Given the description of an element on the screen output the (x, y) to click on. 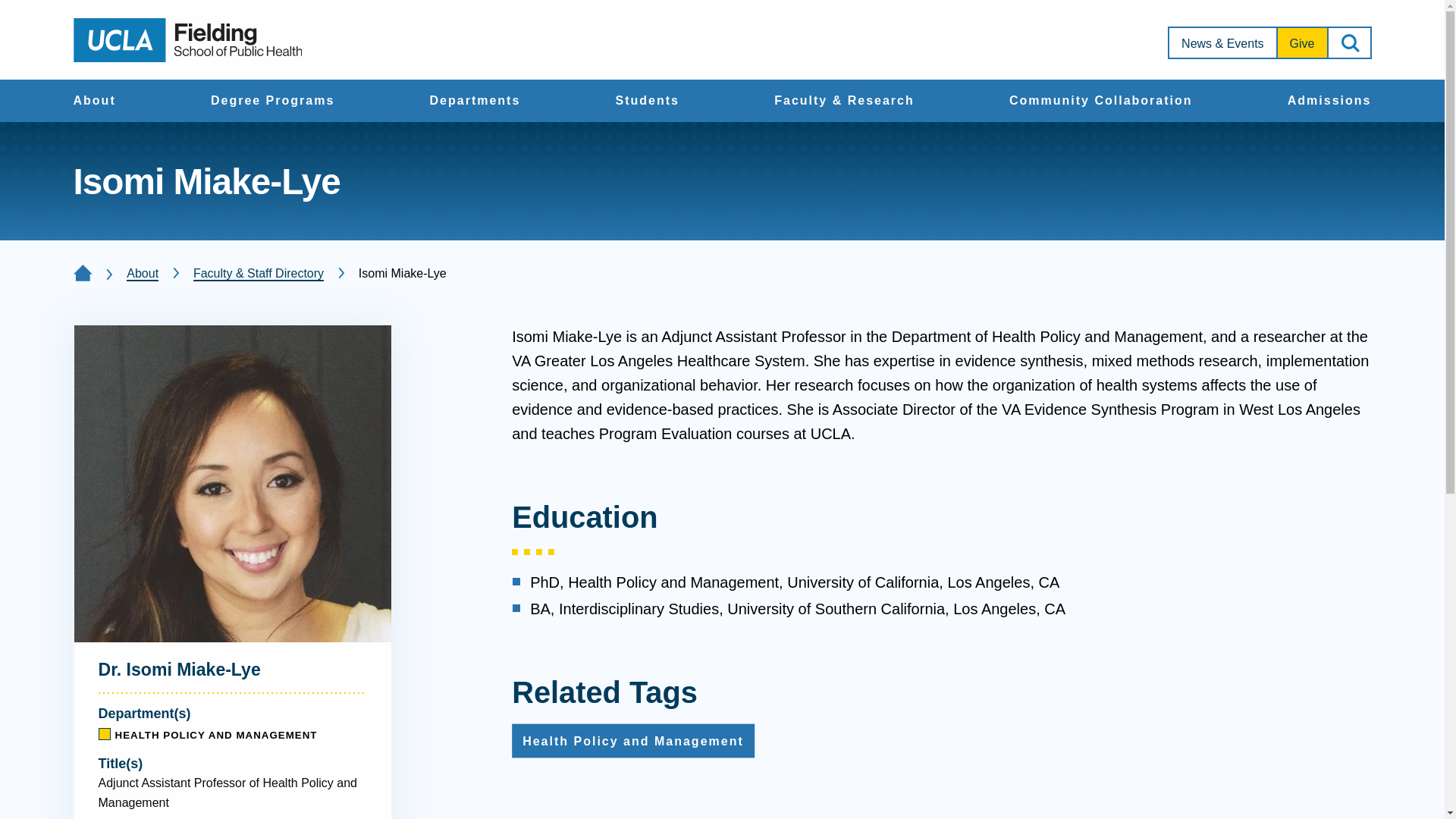
Home Page (81, 273)
Students (647, 102)
Departments (475, 102)
Degree Programs (272, 102)
About (93, 102)
Return to home (186, 40)
